Given the description of an element on the screen output the (x, y) to click on. 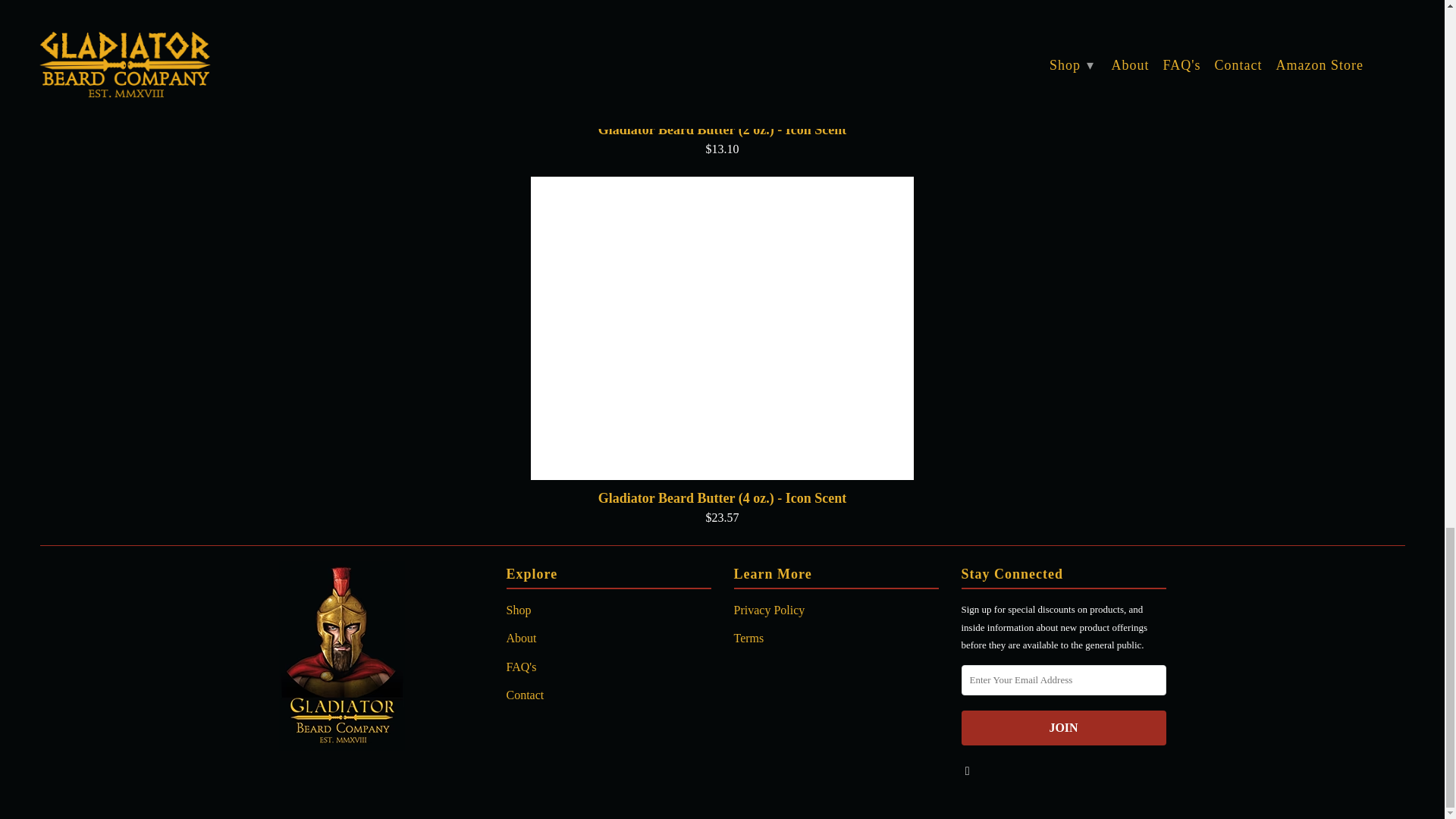
Shop (518, 609)
Contact (525, 694)
Join (1063, 727)
Terms (748, 637)
FAQ's (521, 666)
Gladiator Beard Company on Instagram (967, 769)
About (521, 637)
Privacy Policy (769, 609)
Join (1063, 727)
